Given the description of an element on the screen output the (x, y) to click on. 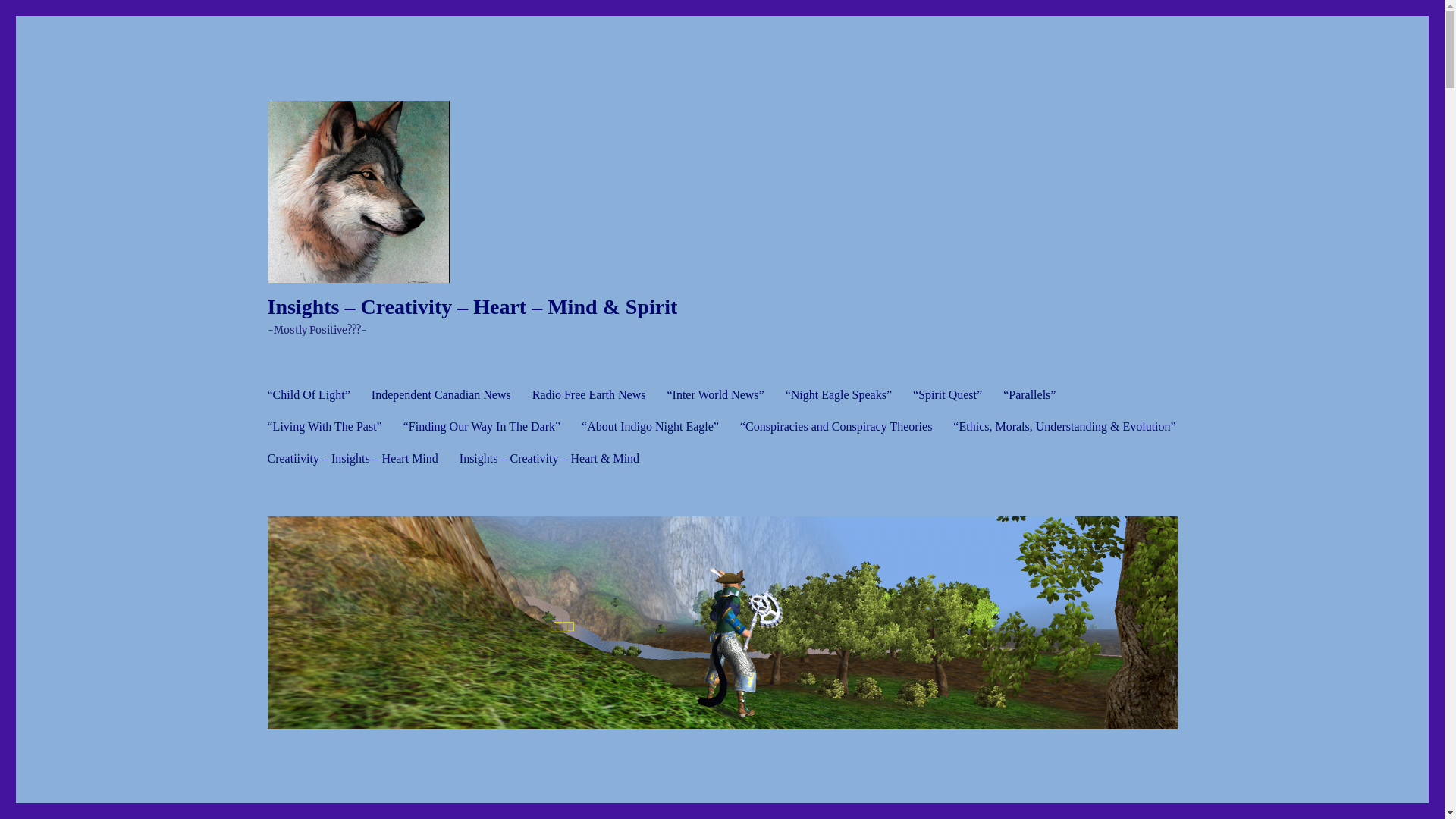
Radio Free Earth News Element type: text (588, 394)
Independent Canadian News Element type: text (440, 394)
